Given the description of an element on the screen output the (x, y) to click on. 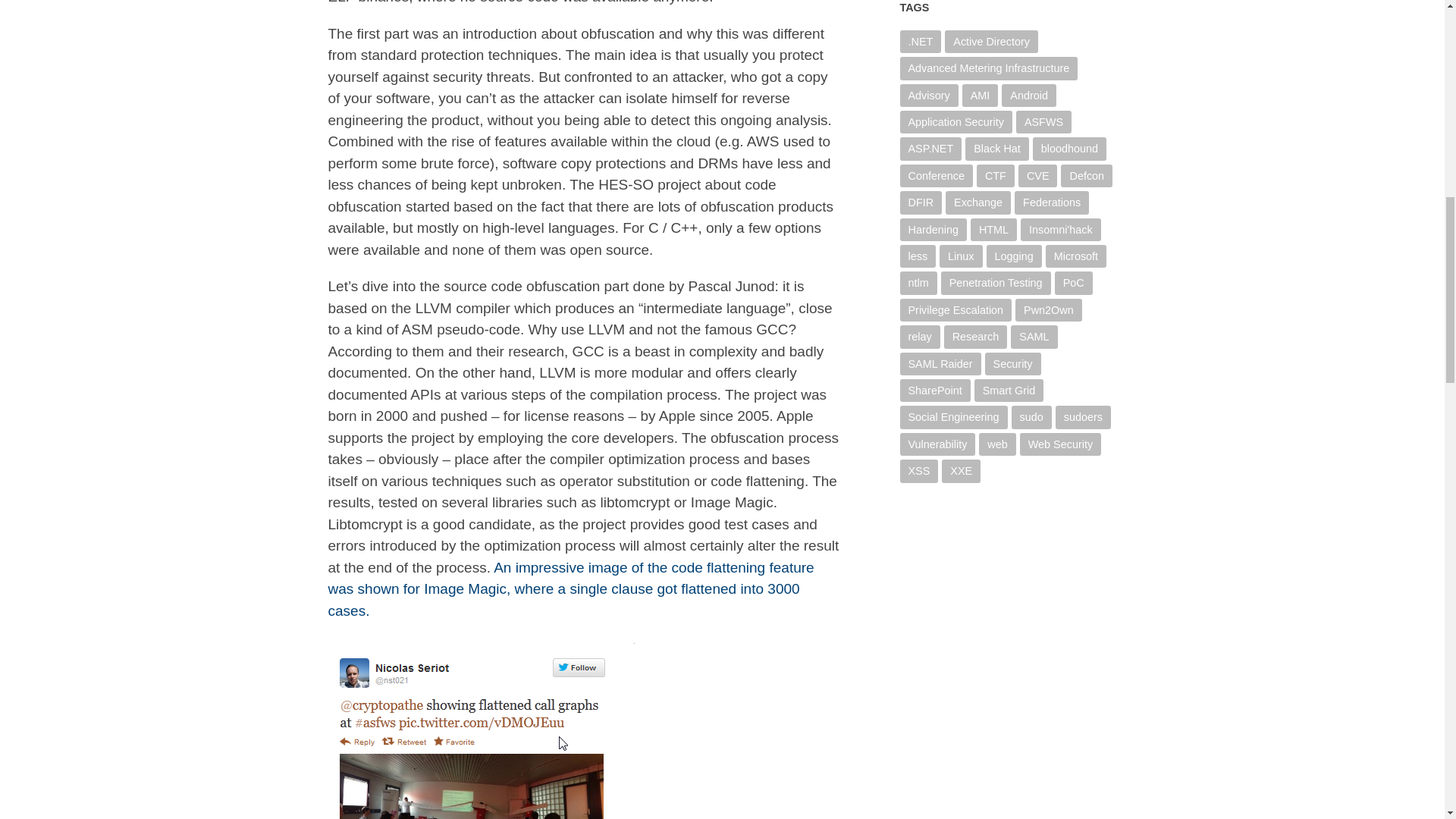
Active Directory (991, 41)
AMI (980, 95)
Advanced Metering Infrastructure (988, 67)
.NET (919, 41)
Advisory (928, 95)
